Given the description of an element on the screen output the (x, y) to click on. 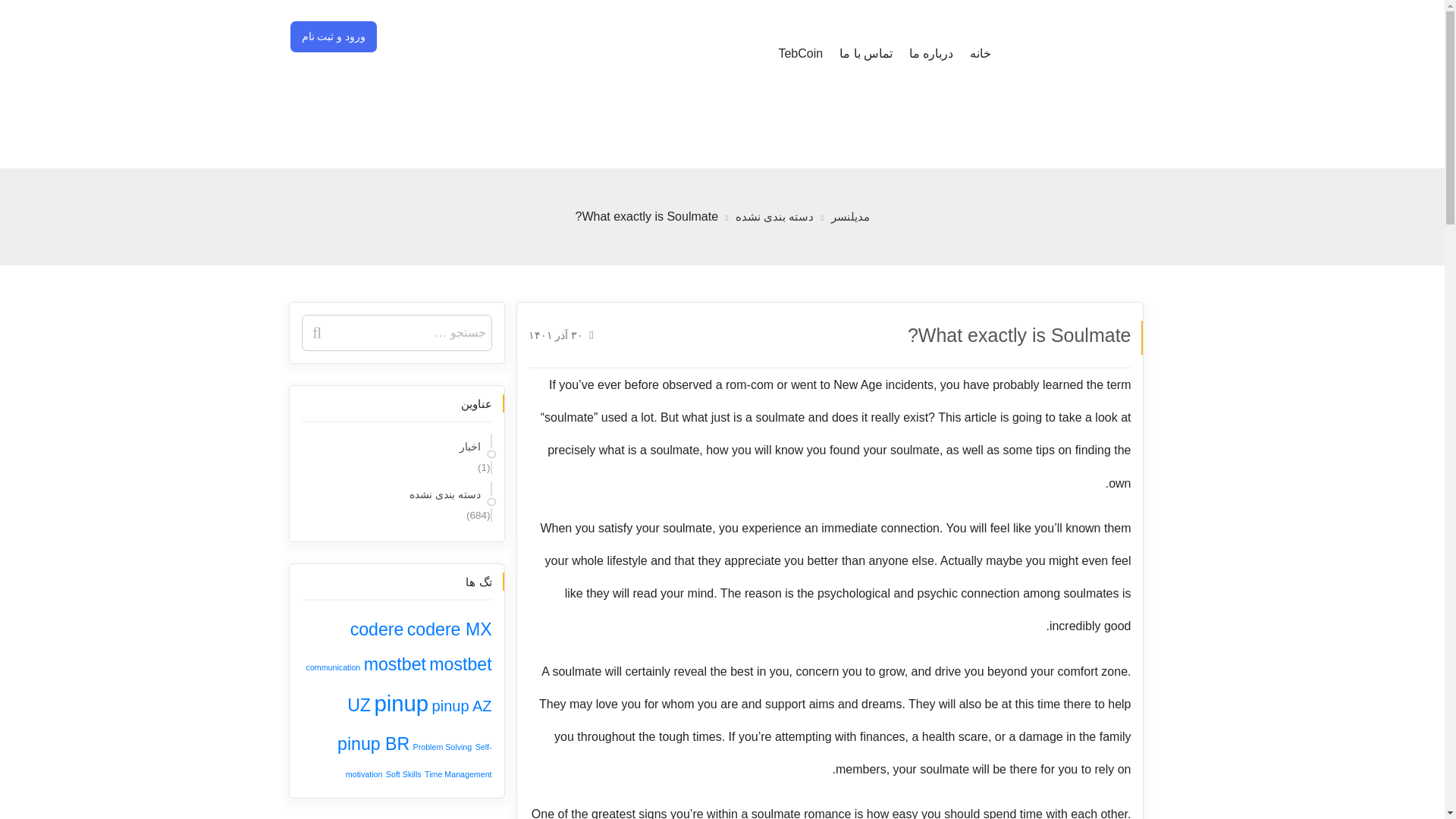
Problem Solving (442, 746)
pinup (401, 703)
Time Management (458, 773)
communication (333, 666)
Self-motivation (419, 760)
codere MX (449, 629)
TebCoin (799, 54)
mostbet (395, 664)
Soft Skills (403, 773)
mostbet UZ (419, 684)
codere (377, 629)
pinup AZ (462, 705)
pinup BR (373, 743)
